Given the description of an element on the screen output the (x, y) to click on. 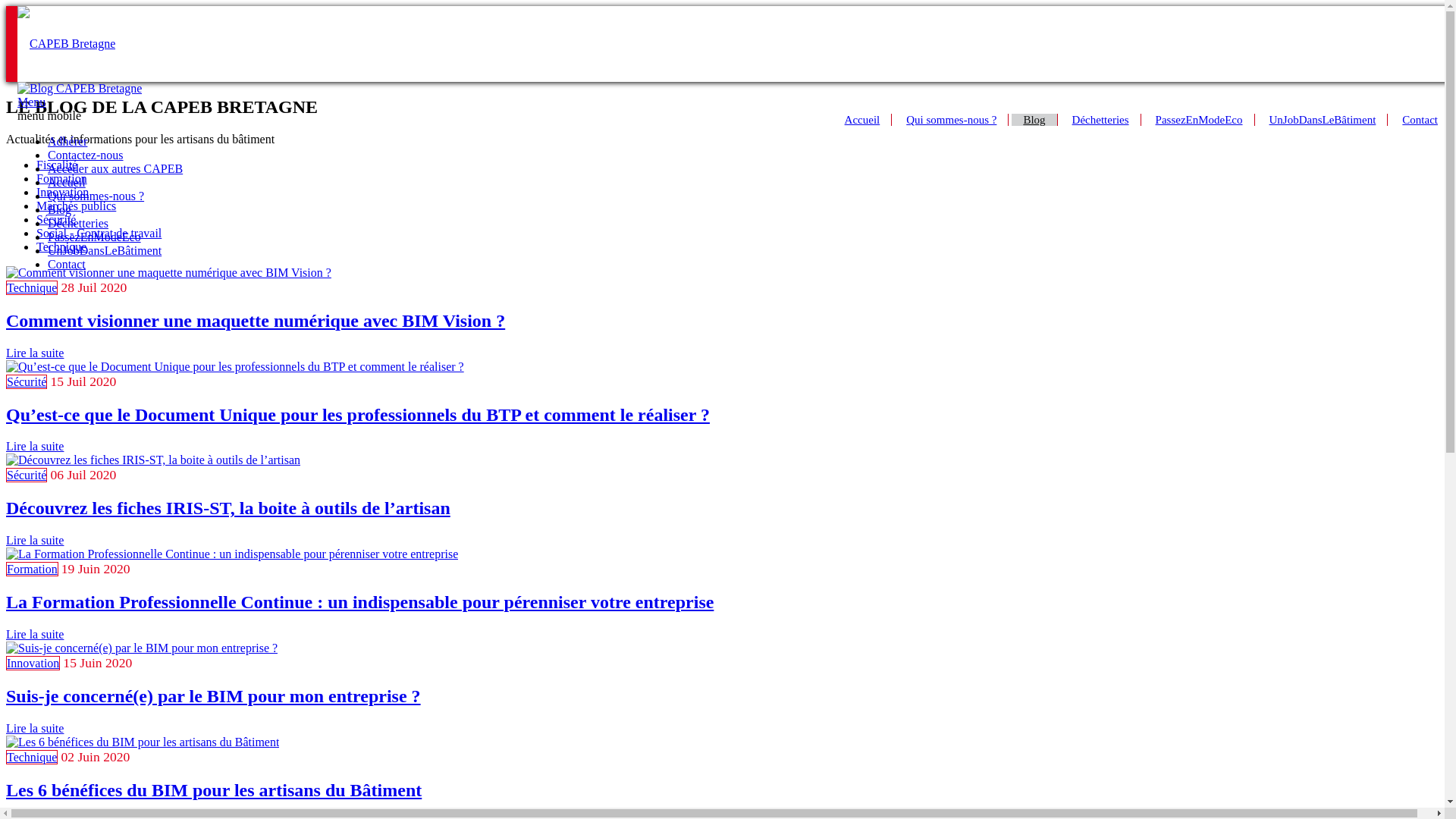
Innovation Element type: text (62, 191)
Technique Element type: text (61, 246)
Qui sommes-nous ? Element type: text (95, 195)
Lire la suite Element type: text (34, 727)
PassezEnModeEco Element type: text (1199, 119)
Qui sommes-nous ? Element type: text (951, 119)
Contact Element type: text (66, 263)
Formation Element type: text (32, 568)
Blog Element type: text (1034, 119)
Social - Contrat de travail Element type: text (98, 232)
Lire la suite Element type: text (34, 539)
Contact Element type: text (1419, 119)
Formation Element type: text (61, 178)
Lire la suite Element type: text (34, 445)
Accueil Element type: text (862, 119)
Technique Element type: text (31, 287)
Technique Element type: text (31, 756)
Lire la suite Element type: text (34, 352)
Menu Element type: text (31, 101)
Contactez-nous Element type: text (85, 154)
Innovation Element type: text (32, 662)
Blog Element type: text (59, 209)
Lire la suite Element type: text (34, 633)
PassezEnModeEco Element type: text (94, 236)
Accueil Element type: text (66, 181)
